Given the description of an element on the screen output the (x, y) to click on. 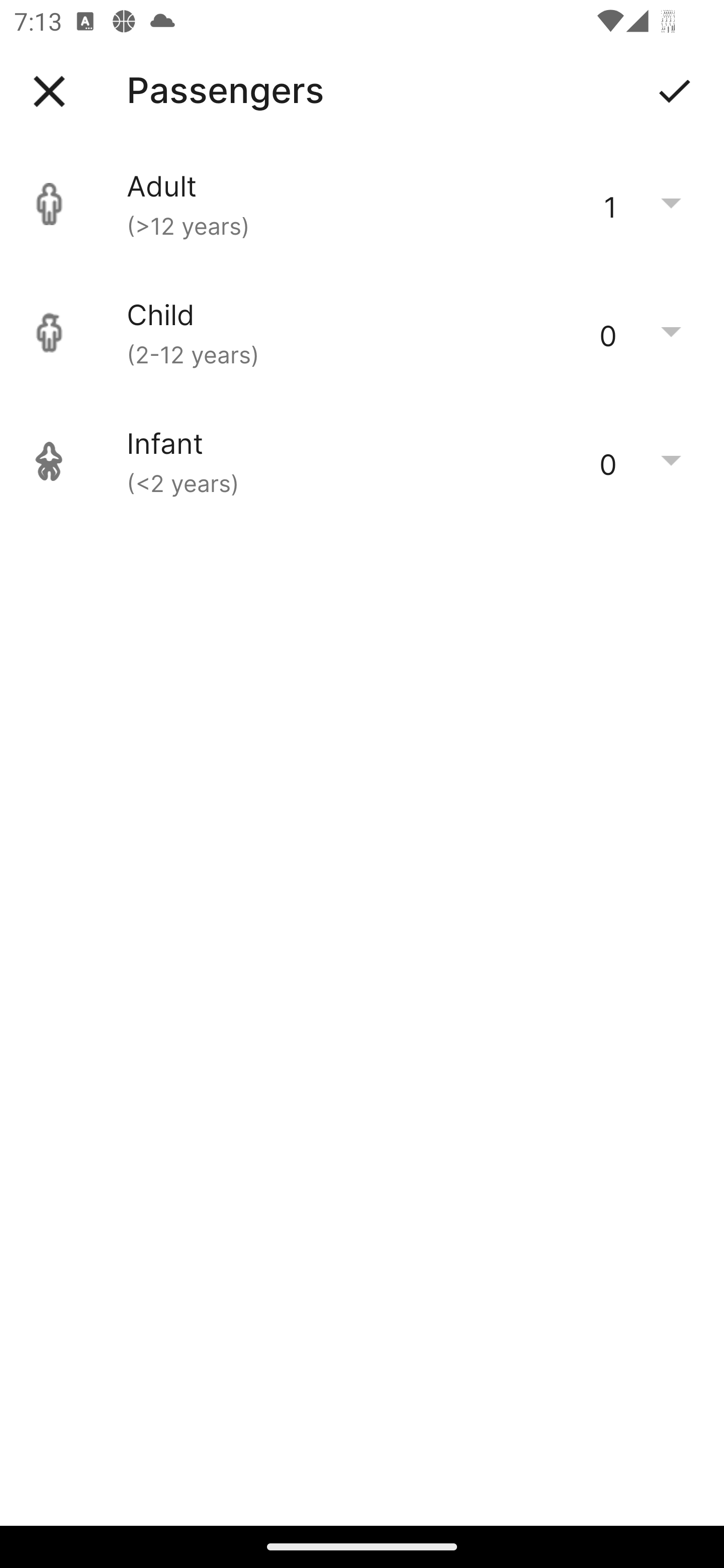
Adult (>12 years) 1 (362, 204)
Child (2-12 years) 0 (362, 332)
Infant (<2 years) 0 (362, 461)
